Given the description of an element on the screen output the (x, y) to click on. 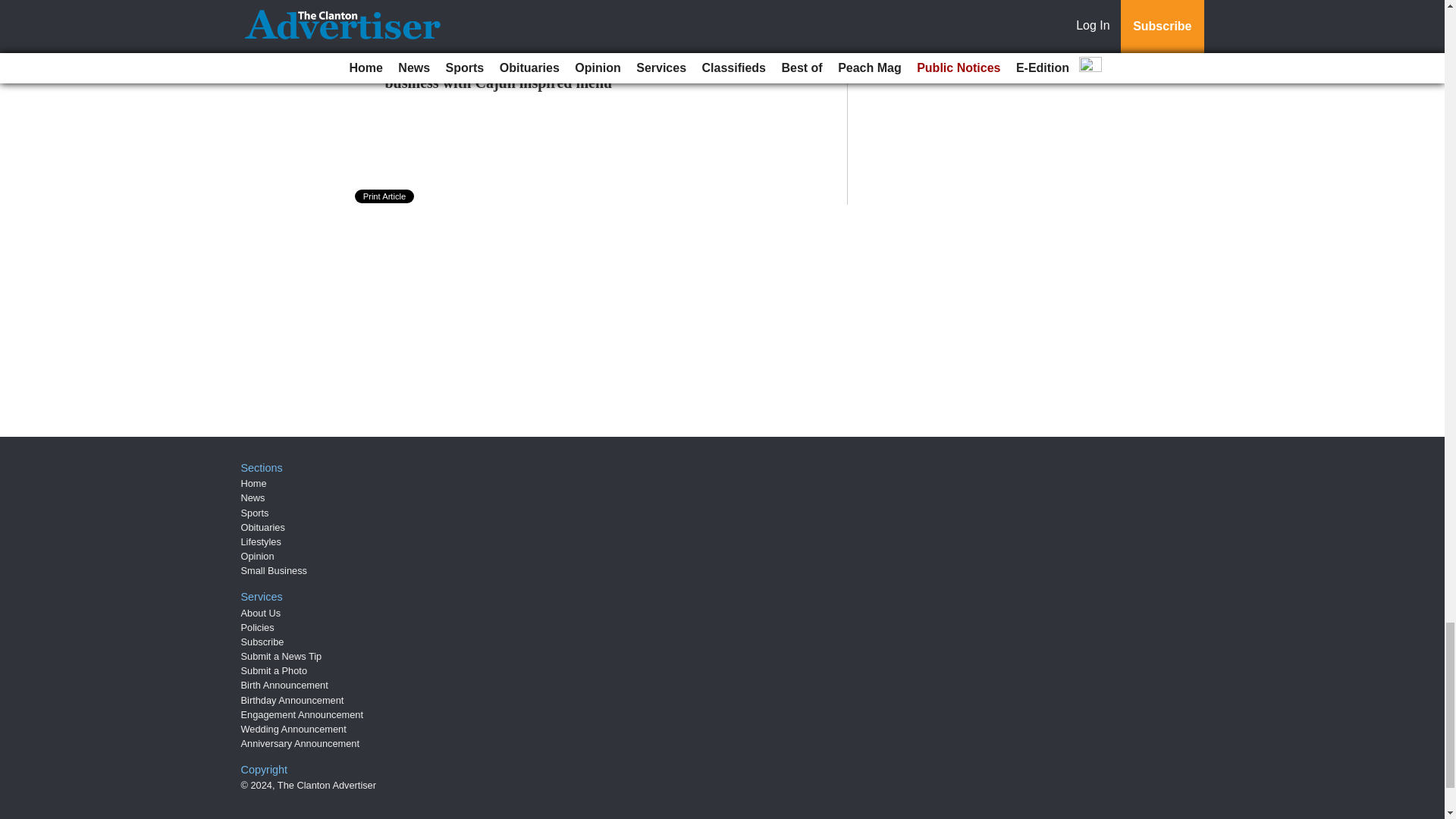
Print Article (384, 196)
